Given the description of an element on the screen output the (x, y) to click on. 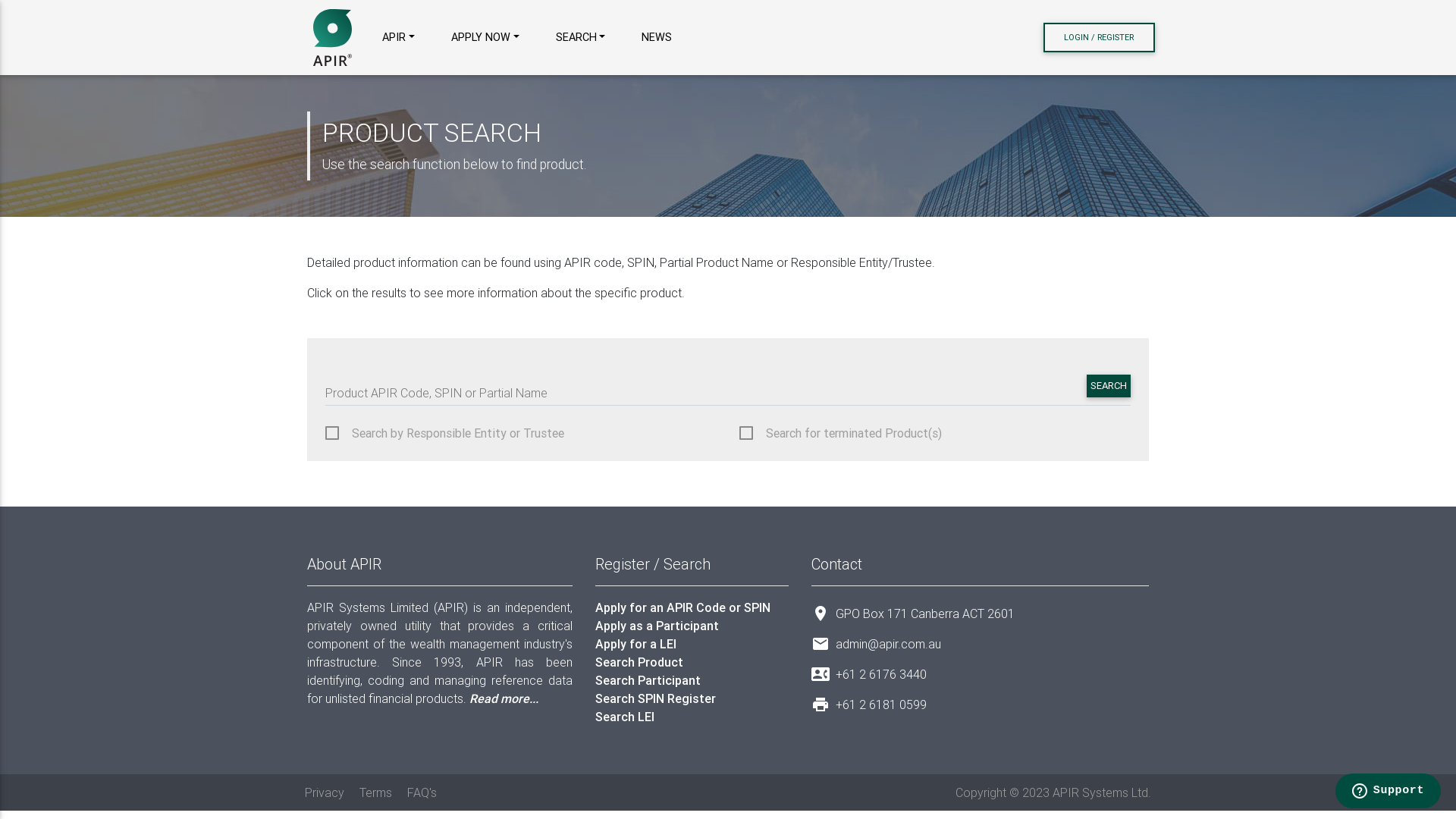
APIR Element type: hover (332, 37)
Apply for an APIR Code or SPIN Element type: text (691, 607)
APPLY NOW Element type: text (485, 37)
Search Participant Element type: text (691, 680)
NEWS Element type: text (656, 37)
Apply as a Participant Element type: text (691, 625)
APIR Element type: text (398, 37)
Search LEI Element type: text (691, 716)
FAQ's Element type: text (421, 792)
LOGIN / REGISTER Element type: text (1098, 37)
Terms Element type: text (375, 792)
Read more... Element type: text (503, 698)
Privacy Element type: text (324, 792)
SEARCH Element type: text (1108, 385)
Opens a widget where you can find more information Element type: hover (1387, 792)
SEARCH Element type: text (580, 37)
Search SPIN Register Element type: text (691, 698)
Search Product Element type: text (691, 661)
Apply for a LEI Element type: text (691, 643)
